Given the description of an element on the screen output the (x, y) to click on. 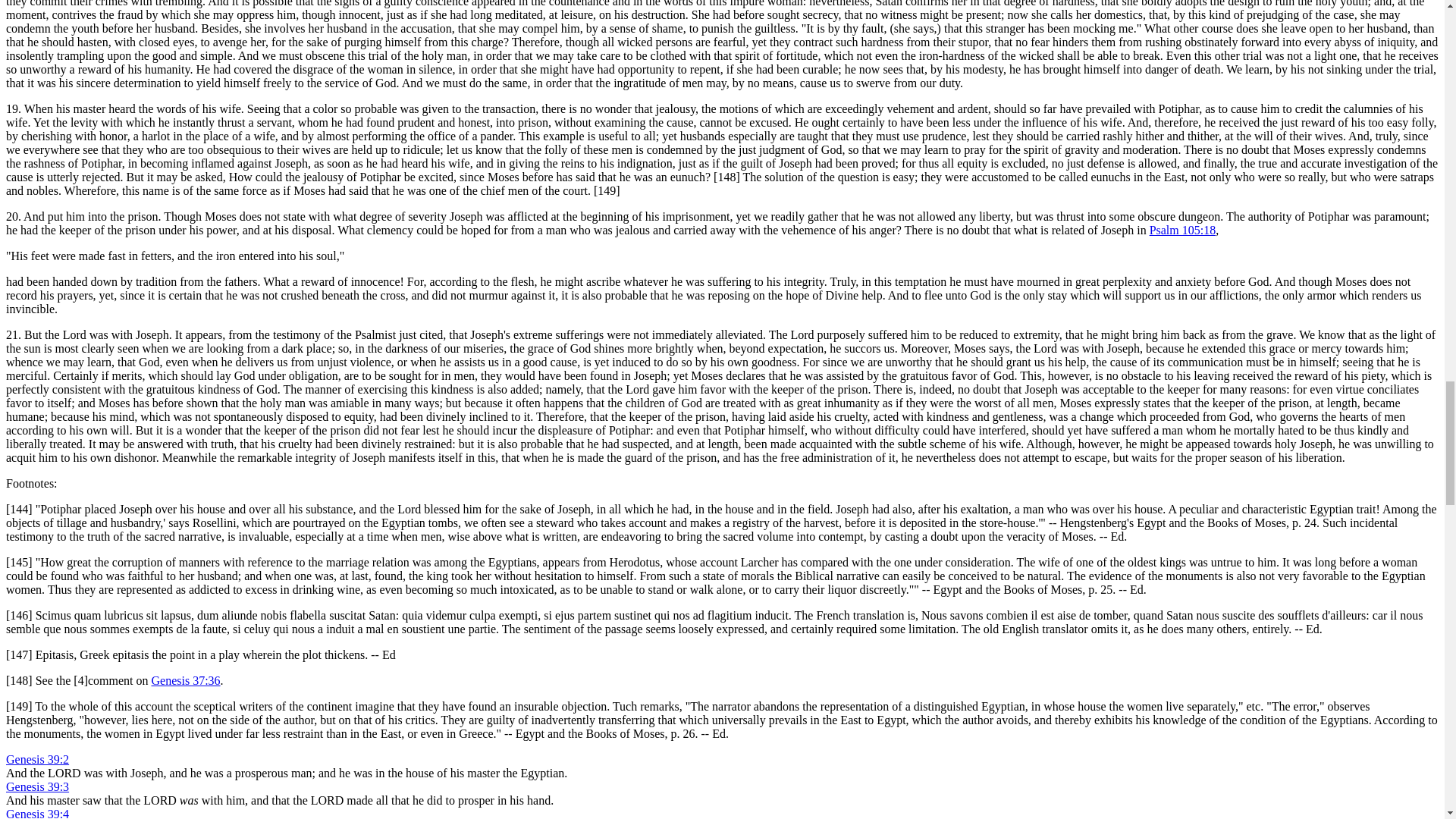
Genesis 39:2 (36, 758)
Genesis 39:4 (36, 813)
Genesis 39:3 (36, 786)
Genesis 37:36 (186, 680)
Psalm 105:18 (1182, 229)
